Given the description of an element on the screen output the (x, y) to click on. 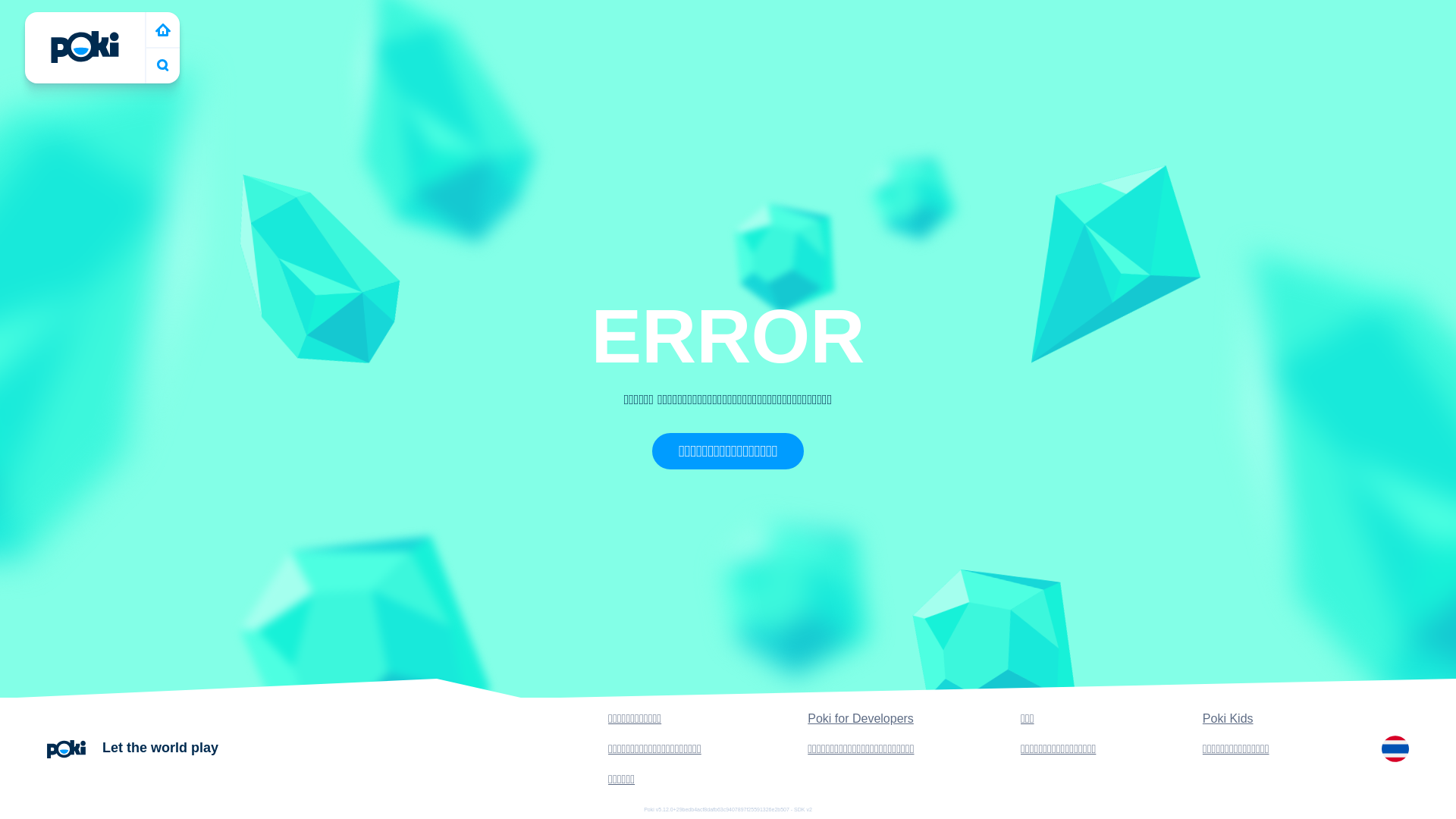
Poki for Developers (861, 719)
Poki (84, 47)
Poki Kids (1227, 719)
